Given the description of an element on the screen output the (x, y) to click on. 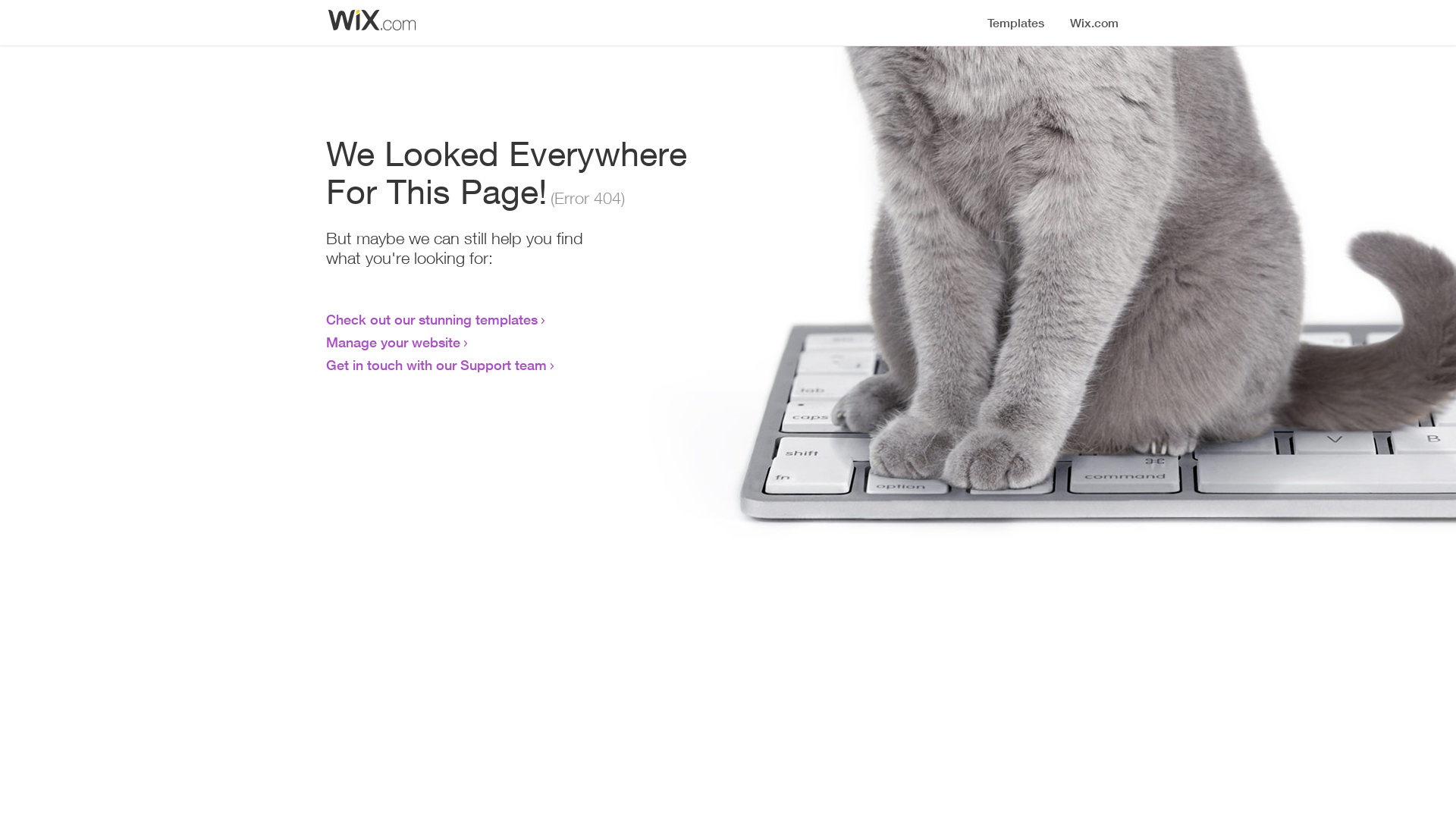
Check out our stunning templates Element type: text (431, 318)
Manage your website Element type: text (393, 341)
Get in touch with our Support team Element type: text (436, 364)
